Given the description of an element on the screen output the (x, y) to click on. 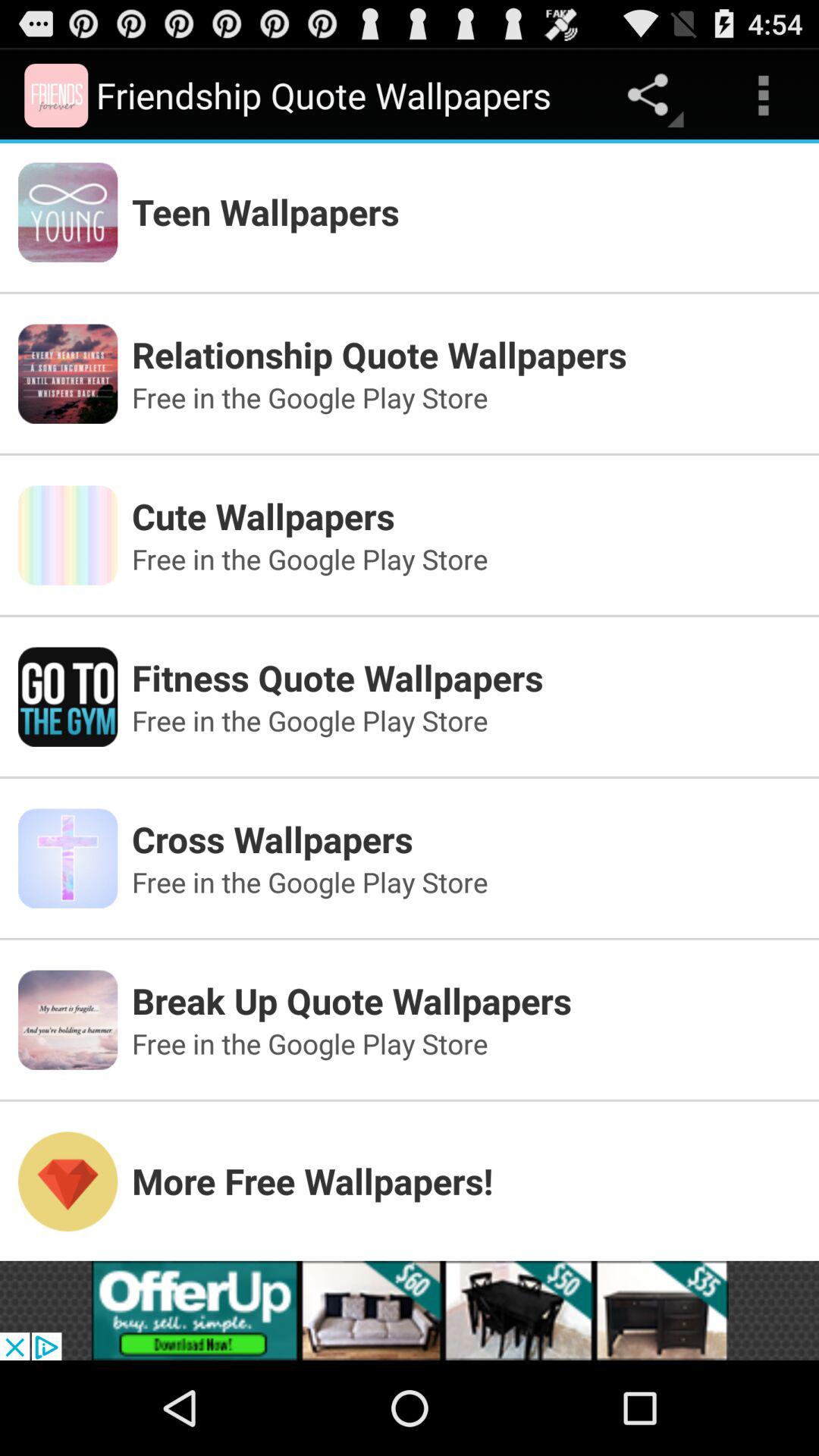
advertisement page (409, 1310)
